Given the description of an element on the screen output the (x, y) to click on. 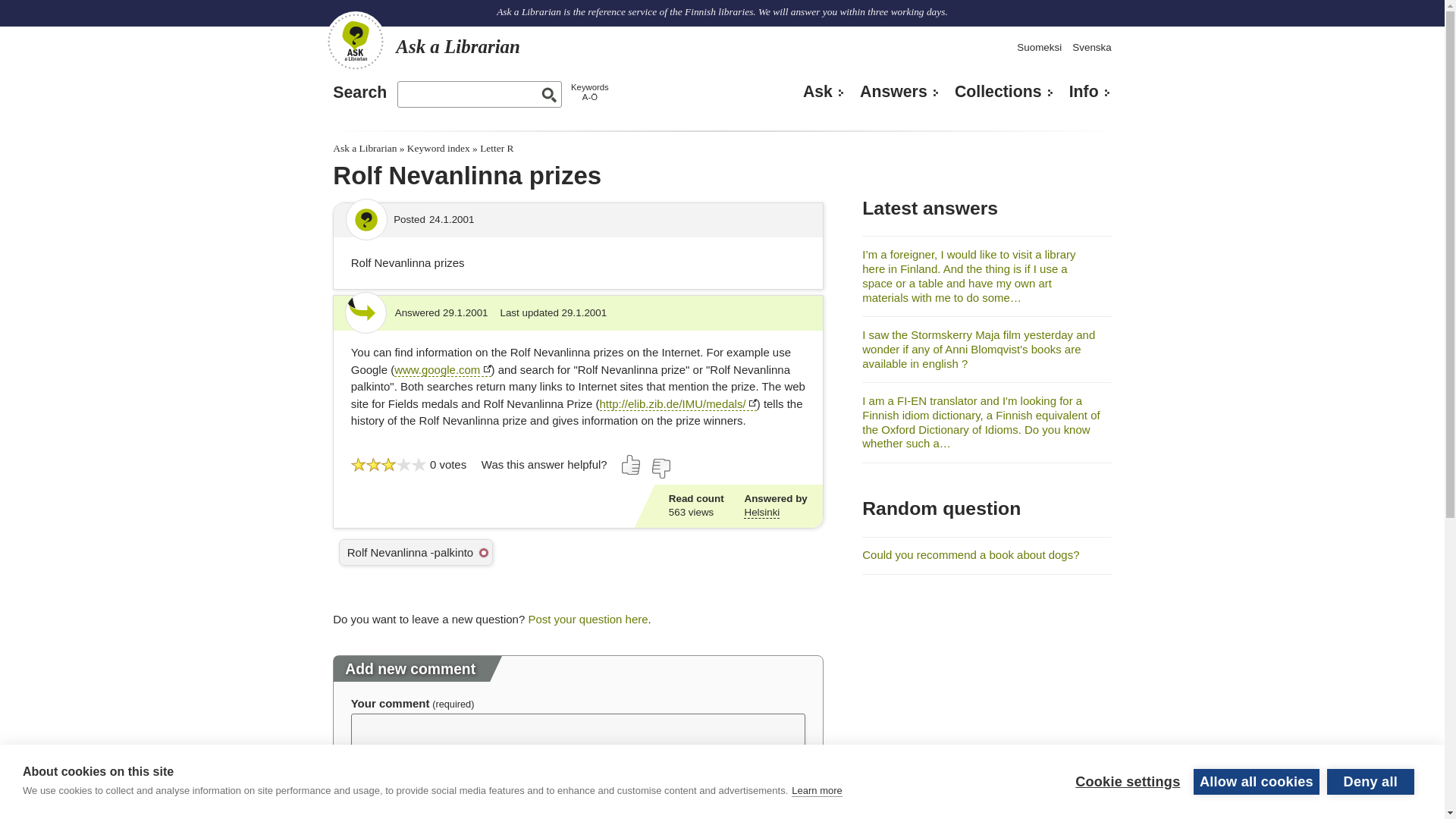
Info (1090, 91)
Ask a Librarian (364, 147)
Kirjoita haluamasi hakusanat. (479, 94)
Helsinki (761, 512)
Wednesday, January 24, 2001 - 00:00 (451, 219)
Cookie settings (1127, 806)
Monday, January 29, 2001 - 00:00 (464, 312)
Suomeksi (1038, 47)
Svenska (1090, 47)
Answers (900, 91)
Letter R (496, 147)
Search (360, 92)
Ask a Librarian (421, 46)
Collections (1004, 91)
Keyword index (438, 147)
